Given the description of an element on the screen output the (x, y) to click on. 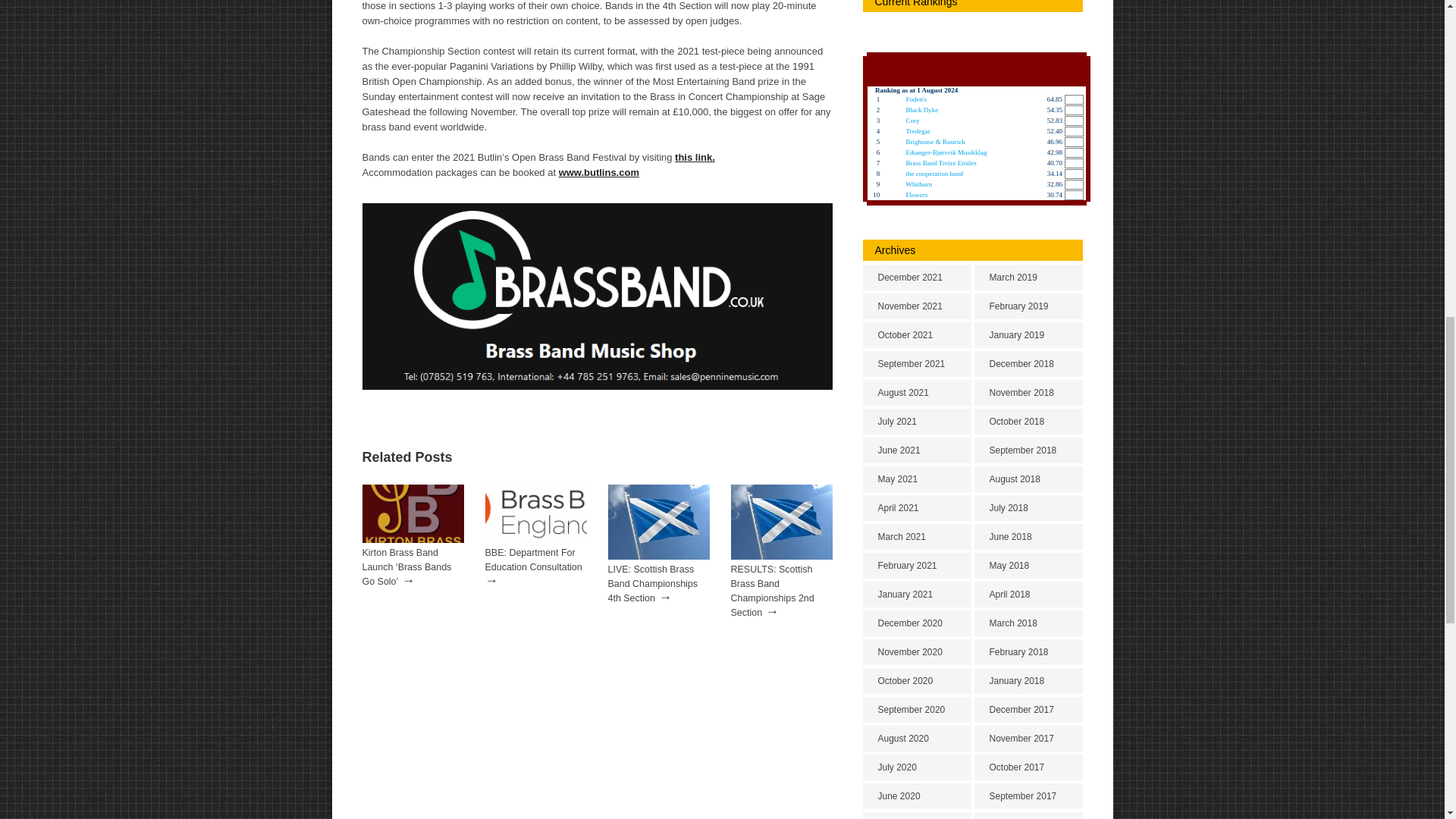
RESULTS: Scottish Brass Band Championships 2nd Section (781, 556)
September 2021 (917, 363)
LIVE: Scottish Brass Band Championships 4th Section (653, 583)
BBE: Department For Education Consultation (533, 559)
LIVE: Scottish Brass Band Championships 4th Section (659, 556)
BBE: Department For Education Consultation (535, 539)
October 2021 (917, 335)
LIVE: Scottish Brass Band Championships 4th Section (653, 583)
this link. (694, 156)
www.butlins.com (599, 172)
BBE: Department For Education Consultation (533, 559)
November 2021 (917, 306)
RESULTS: Scottish Brass Band Championships 2nd Section (771, 591)
December 2021 (917, 277)
RESULTS: Scottish Brass Band Championships 2nd Section (771, 591)
